Given the description of an element on the screen output the (x, y) to click on. 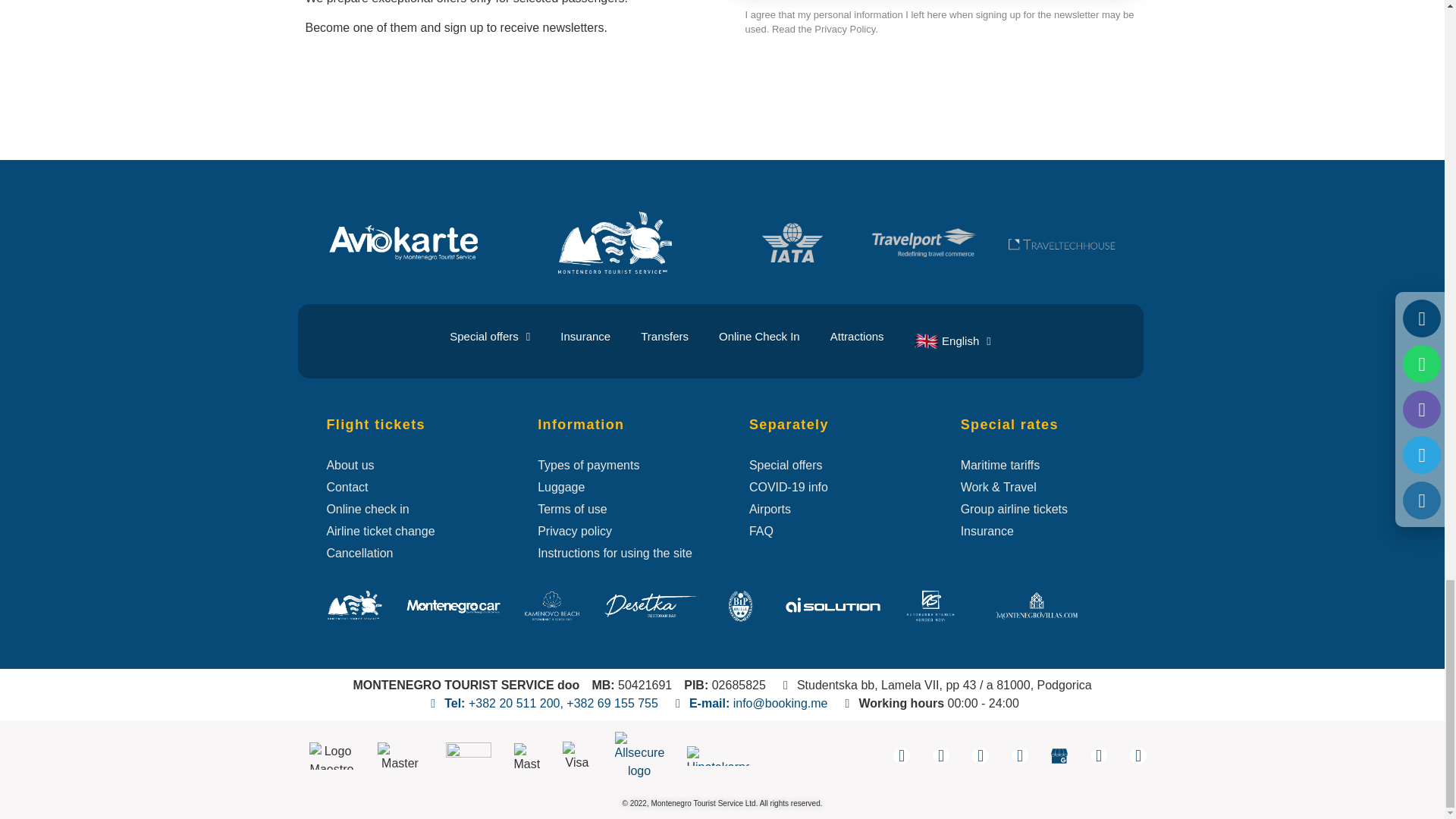
Insurance (585, 336)
Online Check In (759, 336)
Transfers (664, 336)
Special offers (488, 336)
